Given the description of an element on the screen output the (x, y) to click on. 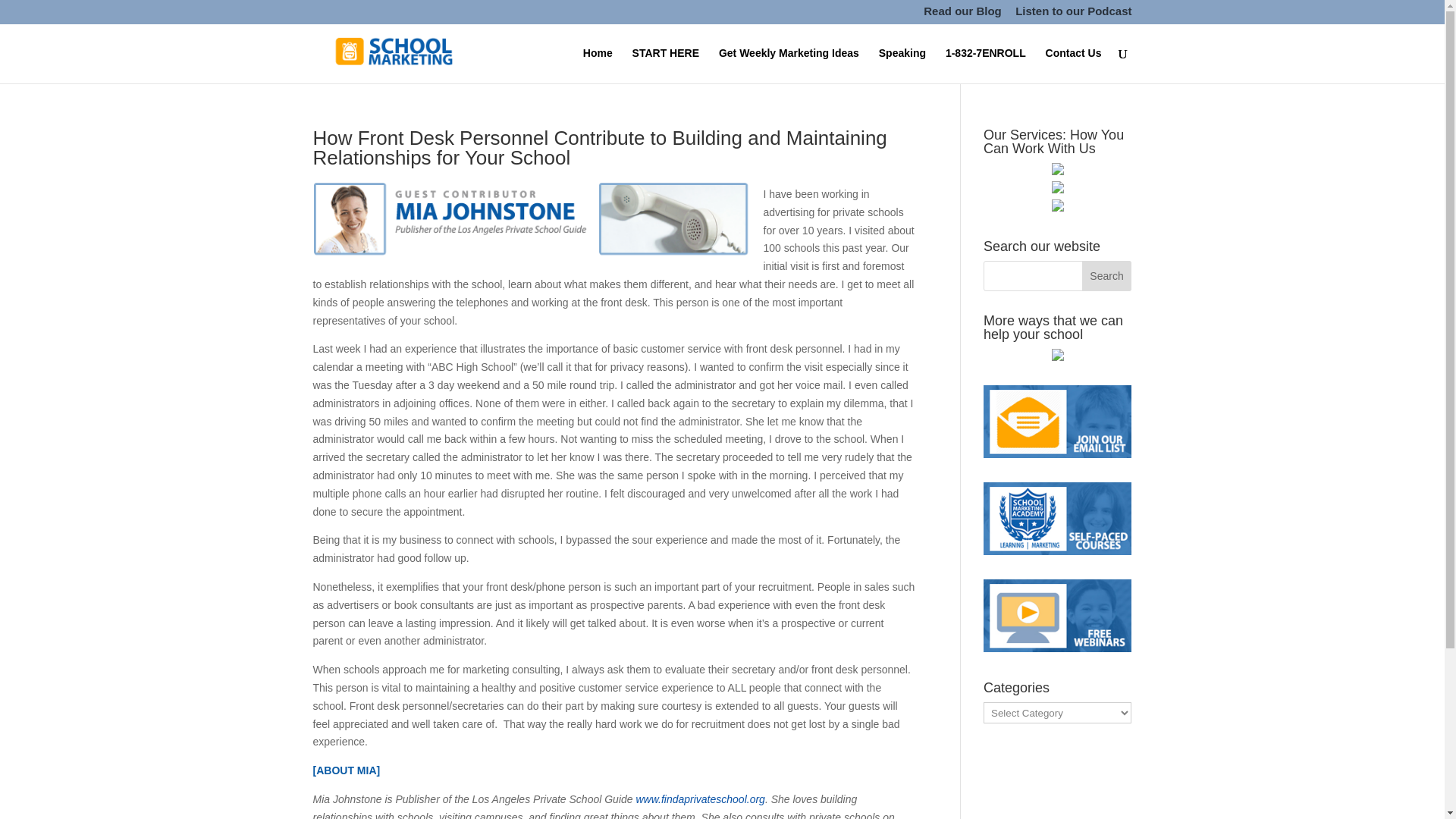
Speaking (902, 65)
Contact Us (1073, 65)
1-832-7ENROLL (985, 65)
www.findaprivateschool.org (699, 799)
Get Weekly Marketing Ideas (789, 65)
Search (1106, 276)
Read our Blog (962, 15)
Search (1106, 276)
START HERE (664, 65)
